Given the description of an element on the screen output the (x, y) to click on. 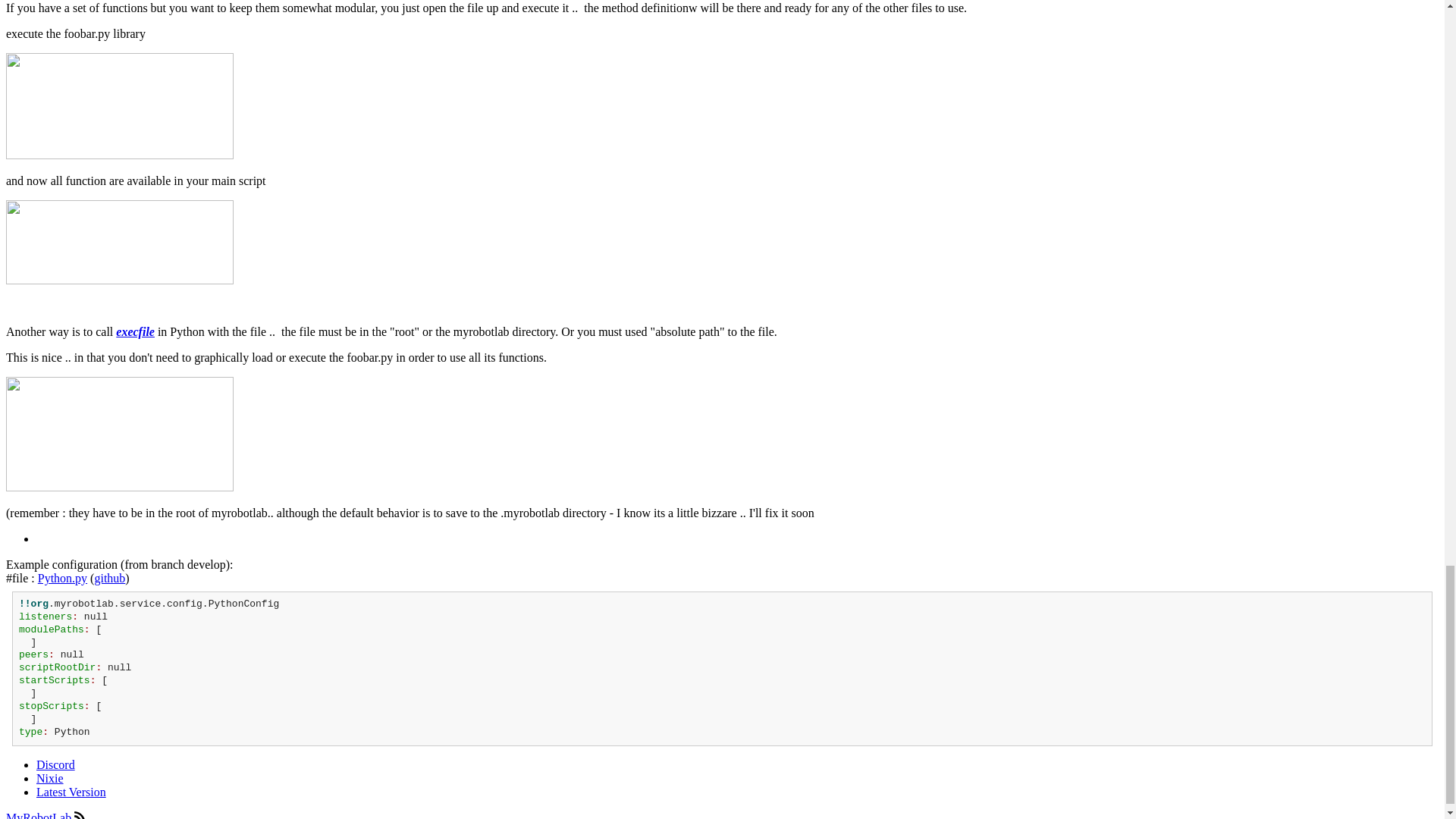
Nixie (50, 778)
Python.py (62, 577)
execfile (135, 331)
Discord (55, 764)
github (109, 577)
